Given the description of an element on the screen output the (x, y) to click on. 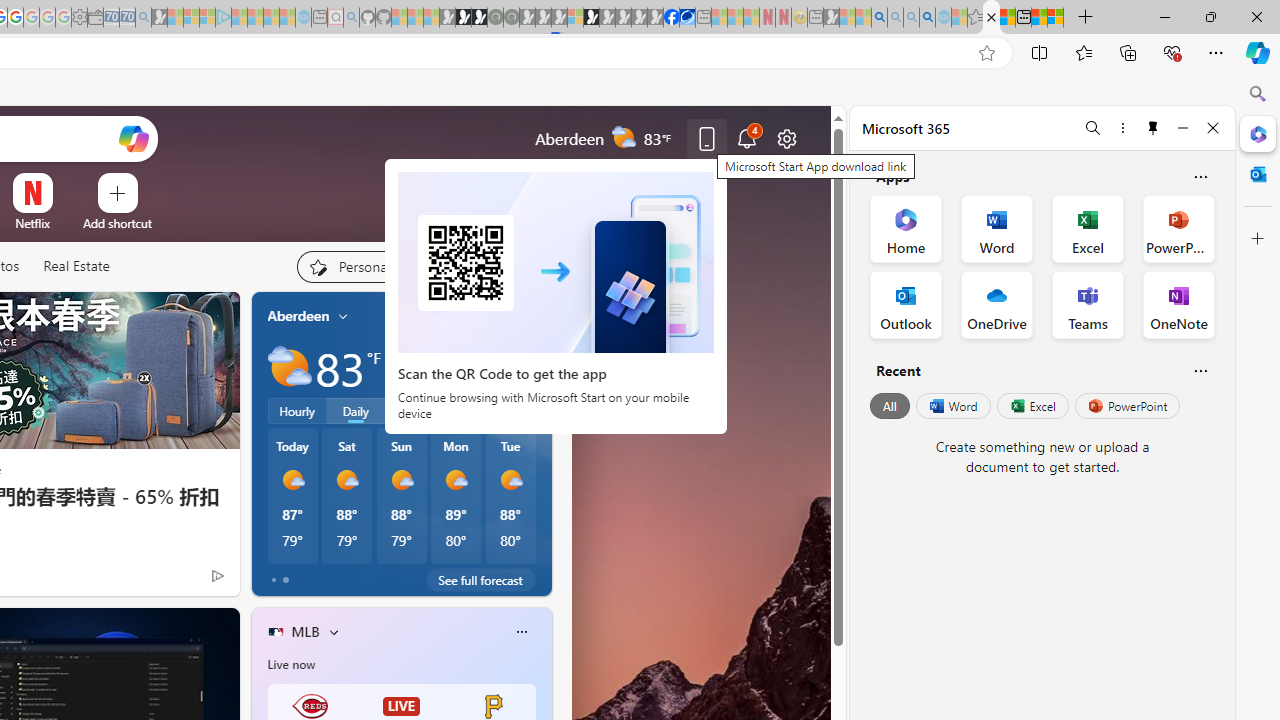
Add a site (117, 223)
Aberdeen (298, 315)
Favorites - Sleeping (975, 17)
Settings - Sleeping (79, 17)
Expect light rain next Wednesday (529, 367)
Word Office App (996, 228)
AirNow.gov (687, 17)
Class: icon-img (521, 632)
